Given the description of an element on the screen output the (x, y) to click on. 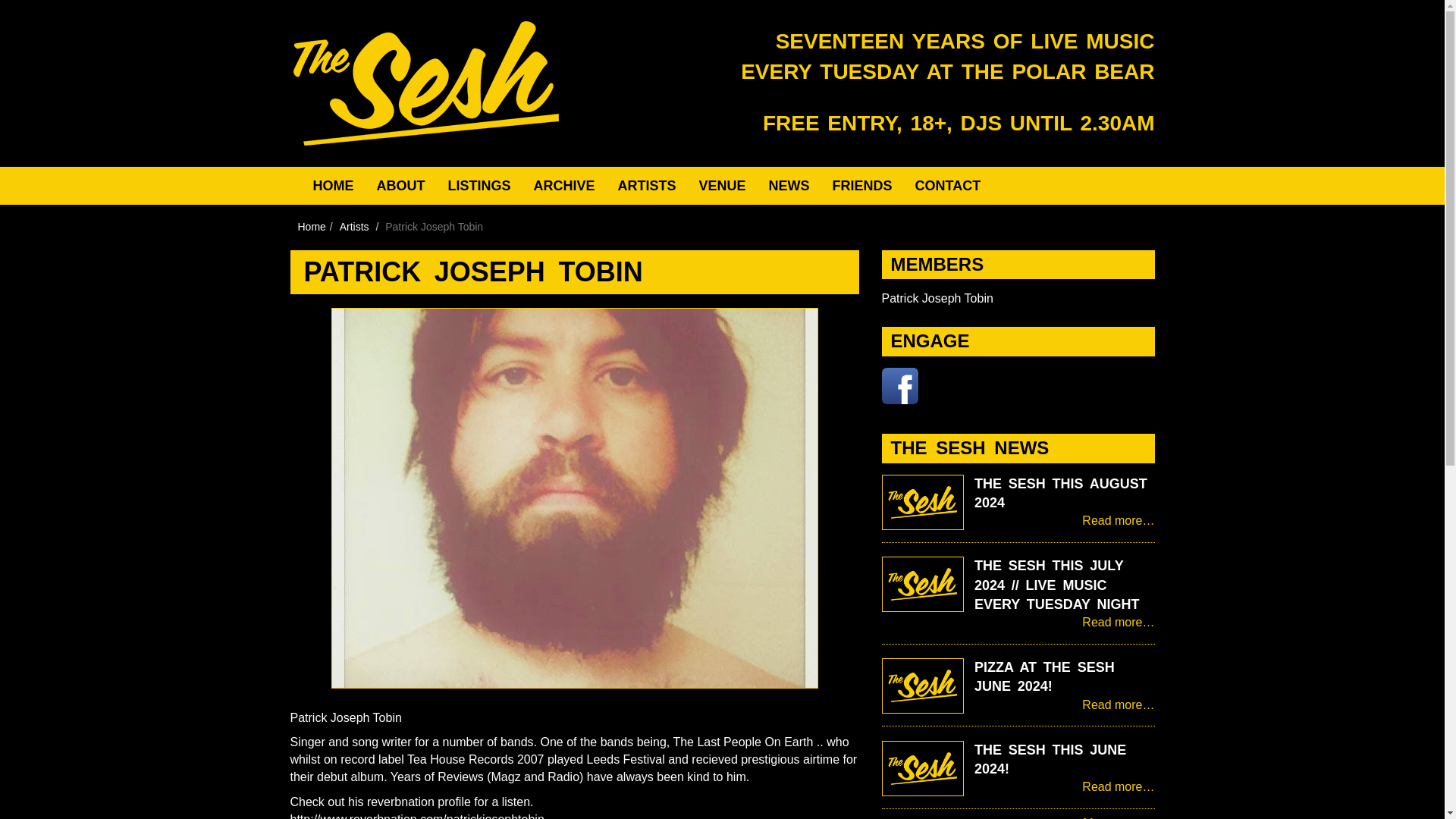
Archive (564, 185)
PIZZA AT THE SESH JUNE 2024! (1044, 676)
ARCHIVE (564, 185)
Artists (354, 226)
NEWS (789, 185)
FRIENDS (862, 185)
Listings (479, 185)
Contact (948, 185)
ARTISTS (647, 185)
Home (333, 185)
